Given the description of an element on the screen output the (x, y) to click on. 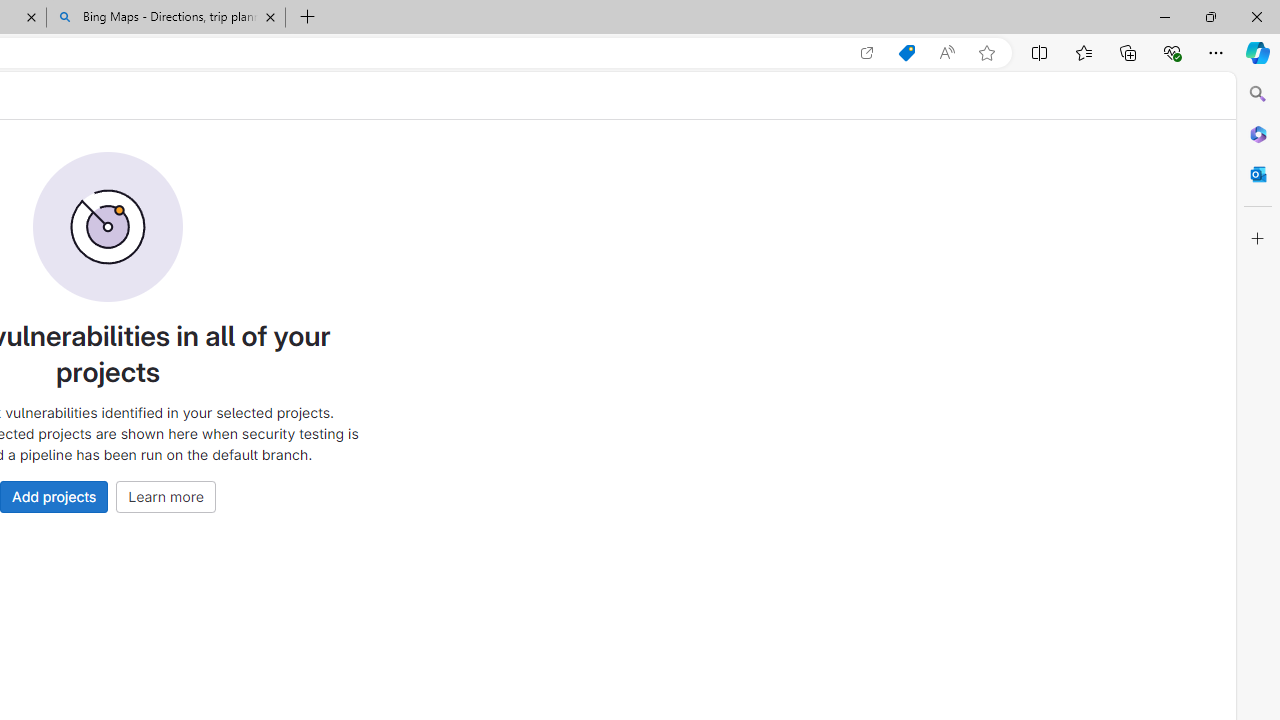
Learn more (166, 496)
Open in app (867, 53)
